Given the description of an element on the screen output the (x, y) to click on. 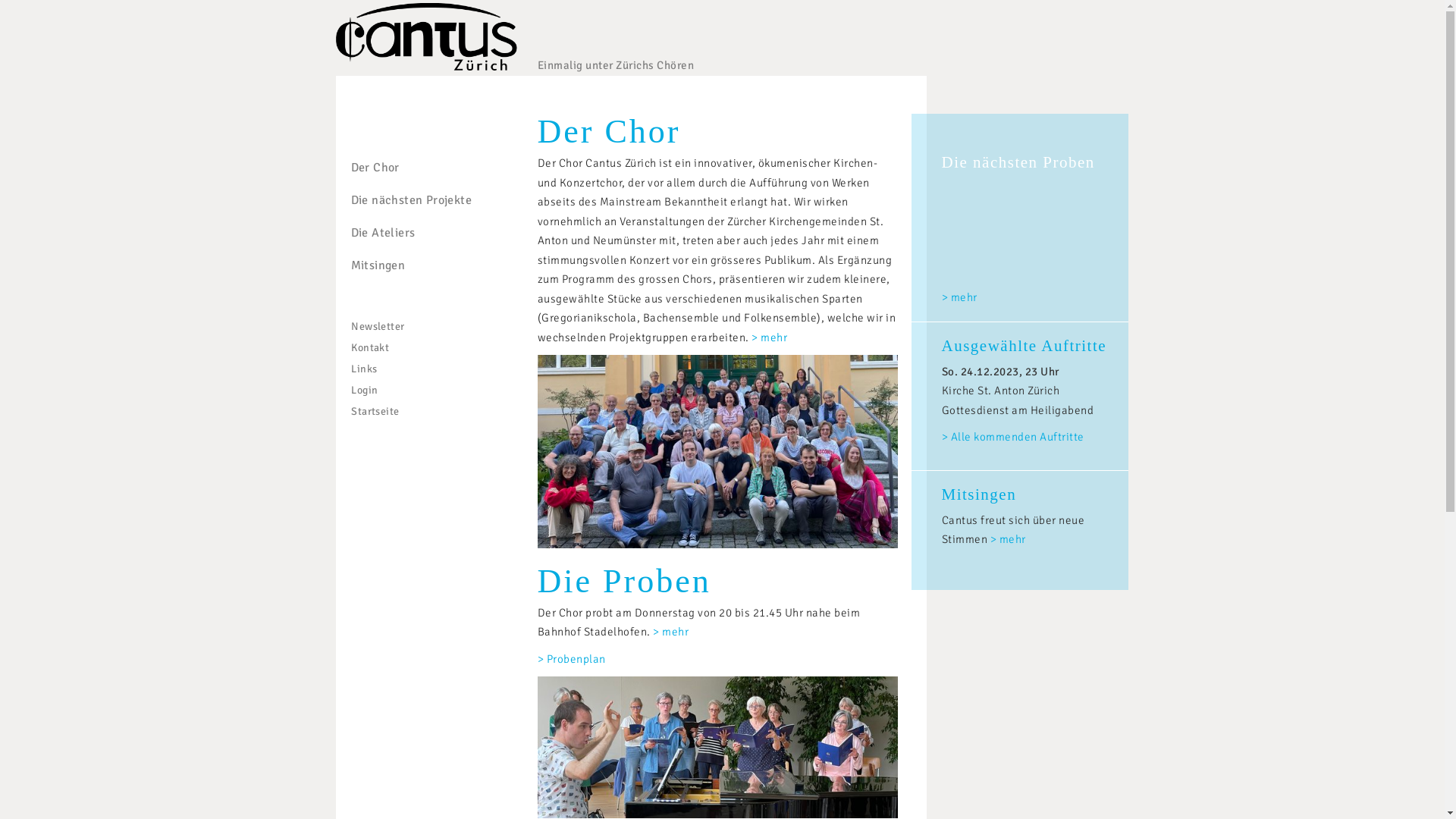
Links Element type: text (361, 368)
Mitsingen Element type: text (403, 265)
Newsletter Element type: text (374, 326)
Der Chor Element type: text (608, 131)
Die Ateliers Element type: text (403, 232)
Die Proben Element type: text (623, 580)
Der Chor Element type: text (403, 167)
> Probenplan Element type: text (570, 658)
Mitsingen Element type: text (978, 494)
> mehr Element type: text (959, 297)
Login Element type: text (361, 389)
Kontakt Element type: text (367, 347)
Startseite Element type: text (372, 411)
> Alle kommenden Auftritte Element type: text (1012, 436)
> mehr Element type: text (1008, 539)
> mehr Element type: text (769, 337)
> mehr Element type: text (670, 631)
